Given the description of an element on the screen output the (x, y) to click on. 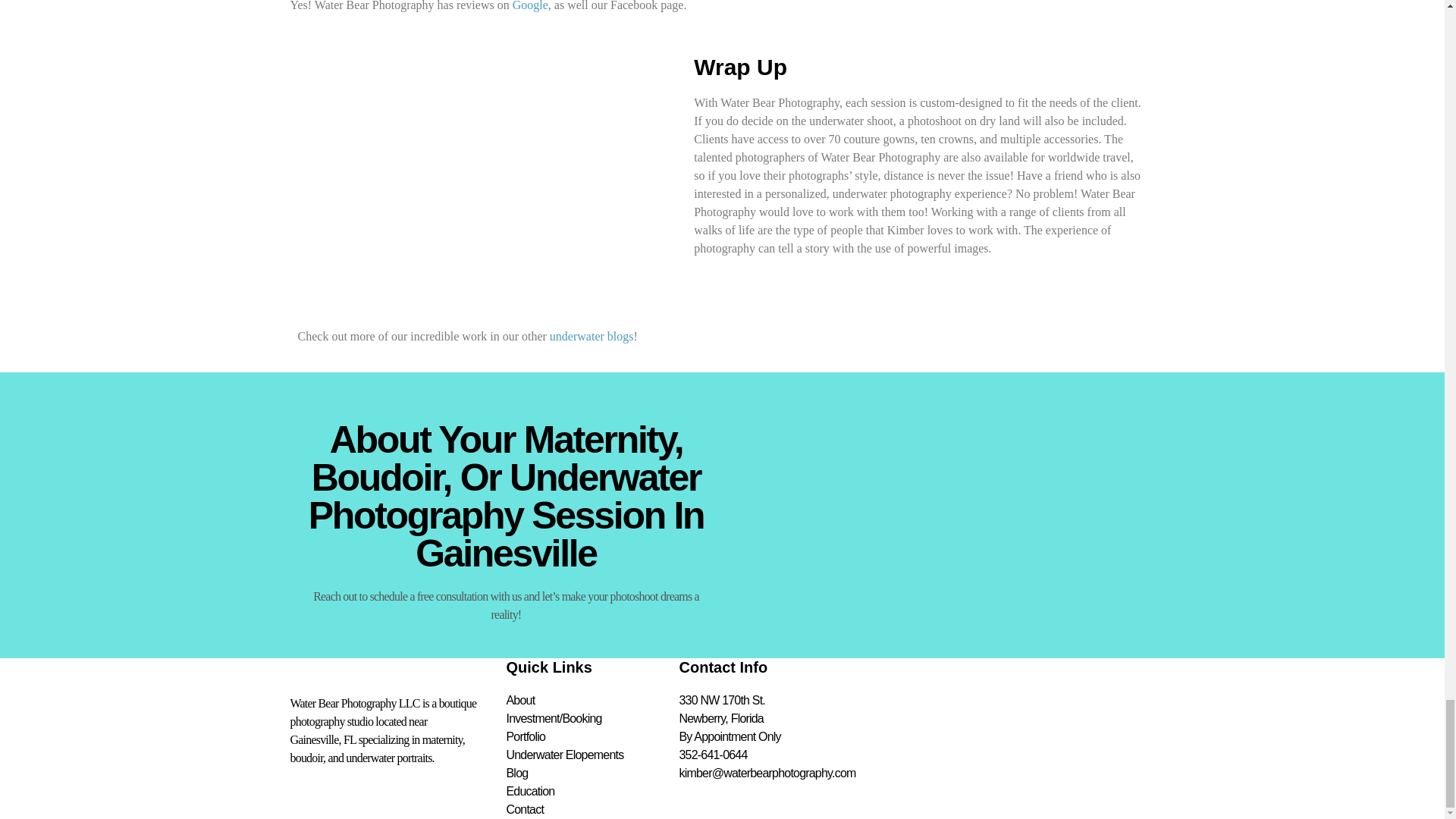
About (592, 700)
Education (592, 791)
Underwater Elopements (592, 755)
Portfolio (592, 737)
Blog (592, 773)
Google (530, 5)
underwater blogs (591, 336)
